Given the description of an element on the screen output the (x, y) to click on. 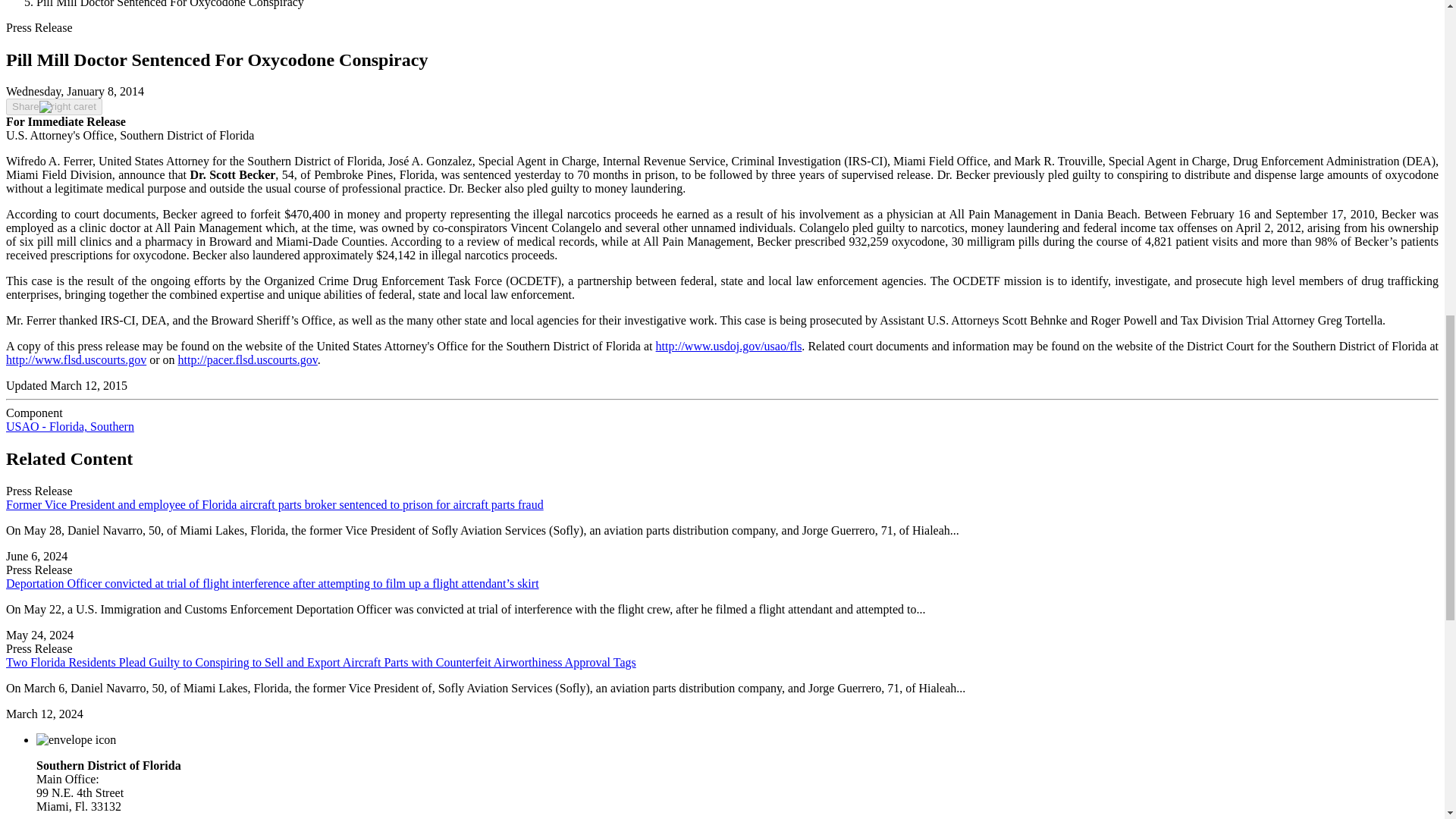
Share (53, 106)
